Given the description of an element on the screen output the (x, y) to click on. 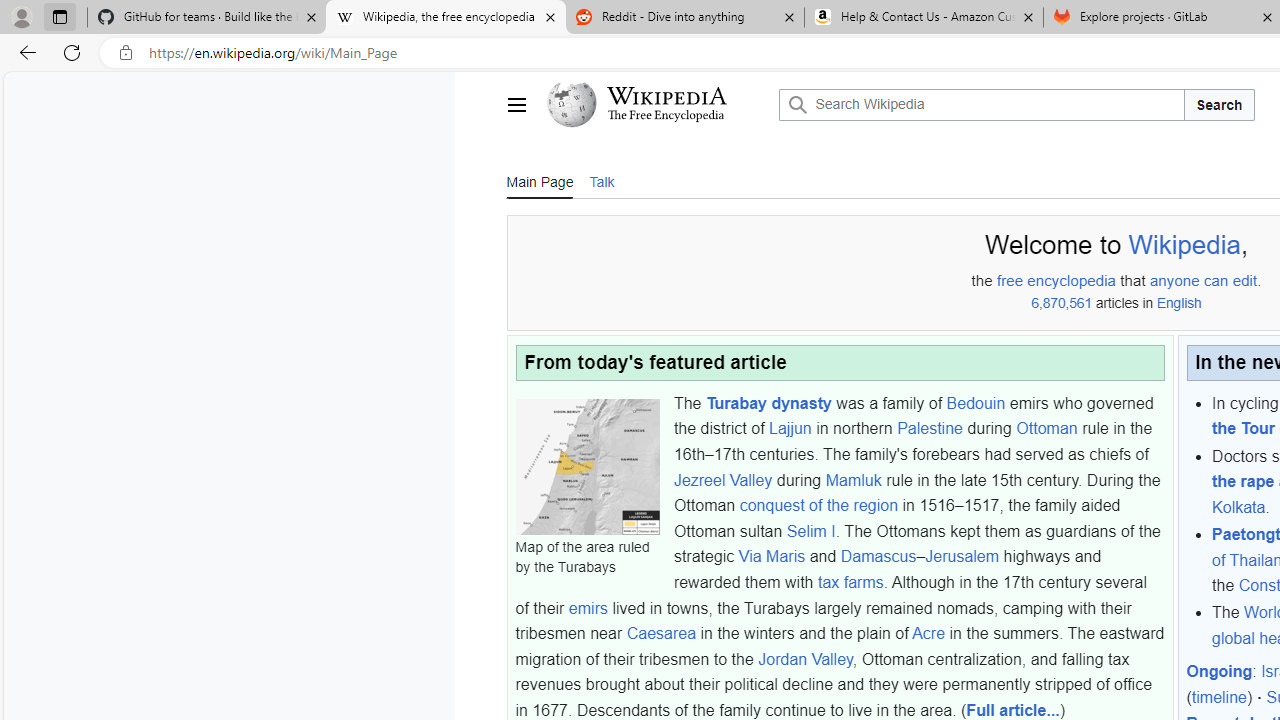
Acre (928, 633)
Wikipedia (1184, 245)
Bedouin (975, 402)
Main Page (539, 180)
encyclopedia (1071, 281)
free (1009, 281)
Ongoing (1219, 672)
Talk (601, 181)
Wikipedia (666, 96)
Map of the area ruled by the Turabays (587, 466)
Via Maris (772, 556)
